Given the description of an element on the screen output the (x, y) to click on. 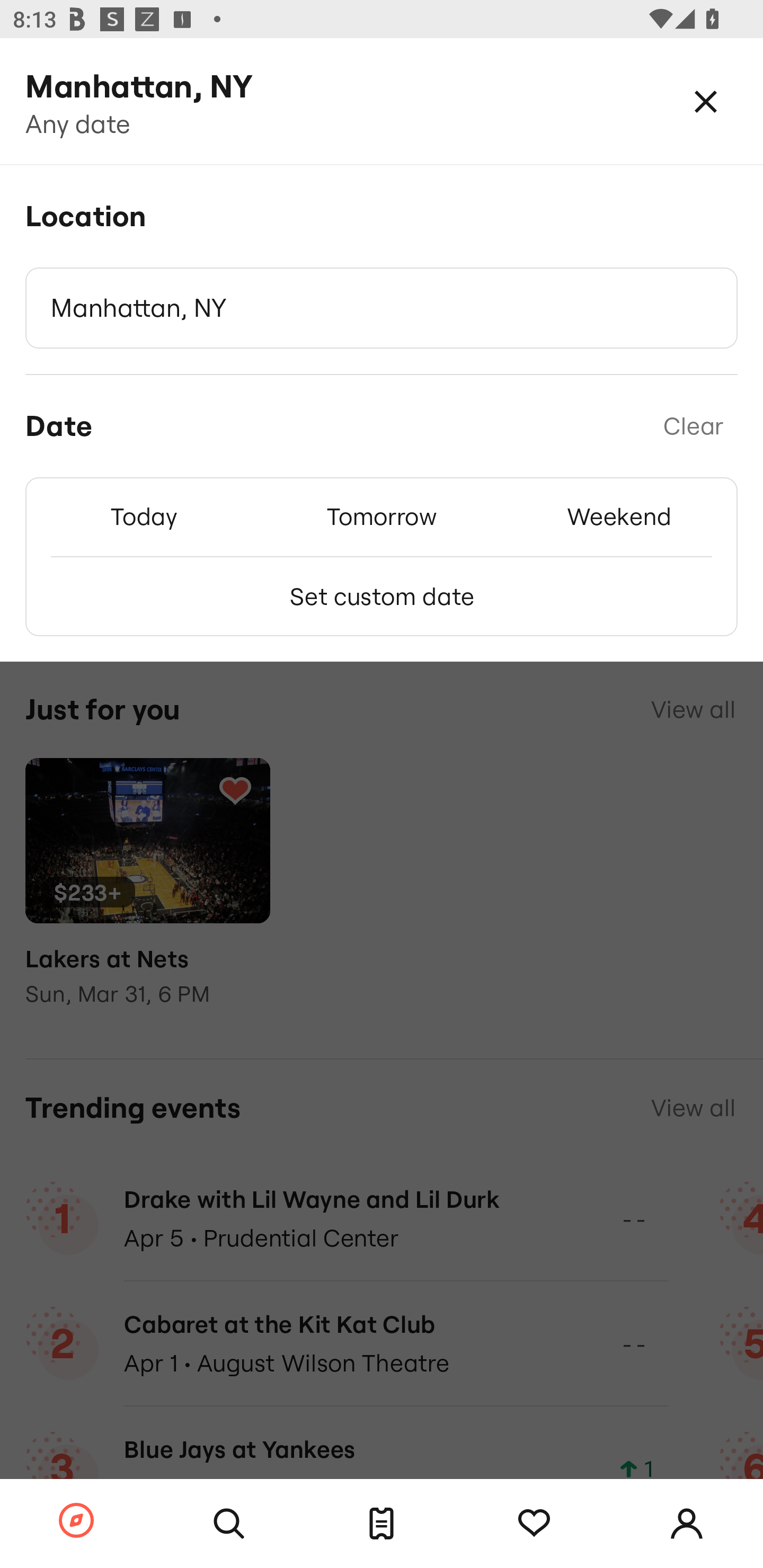
Close (705, 100)
Manhattan, NY (381, 308)
Clear (693, 426)
Today (143, 516)
Tomorrow (381, 516)
Weekend (618, 516)
Set custom date (381, 596)
Browse (76, 1521)
Search (228, 1523)
Tickets (381, 1523)
Tracking (533, 1523)
Account (686, 1523)
